Given the description of an element on the screen output the (x, y) to click on. 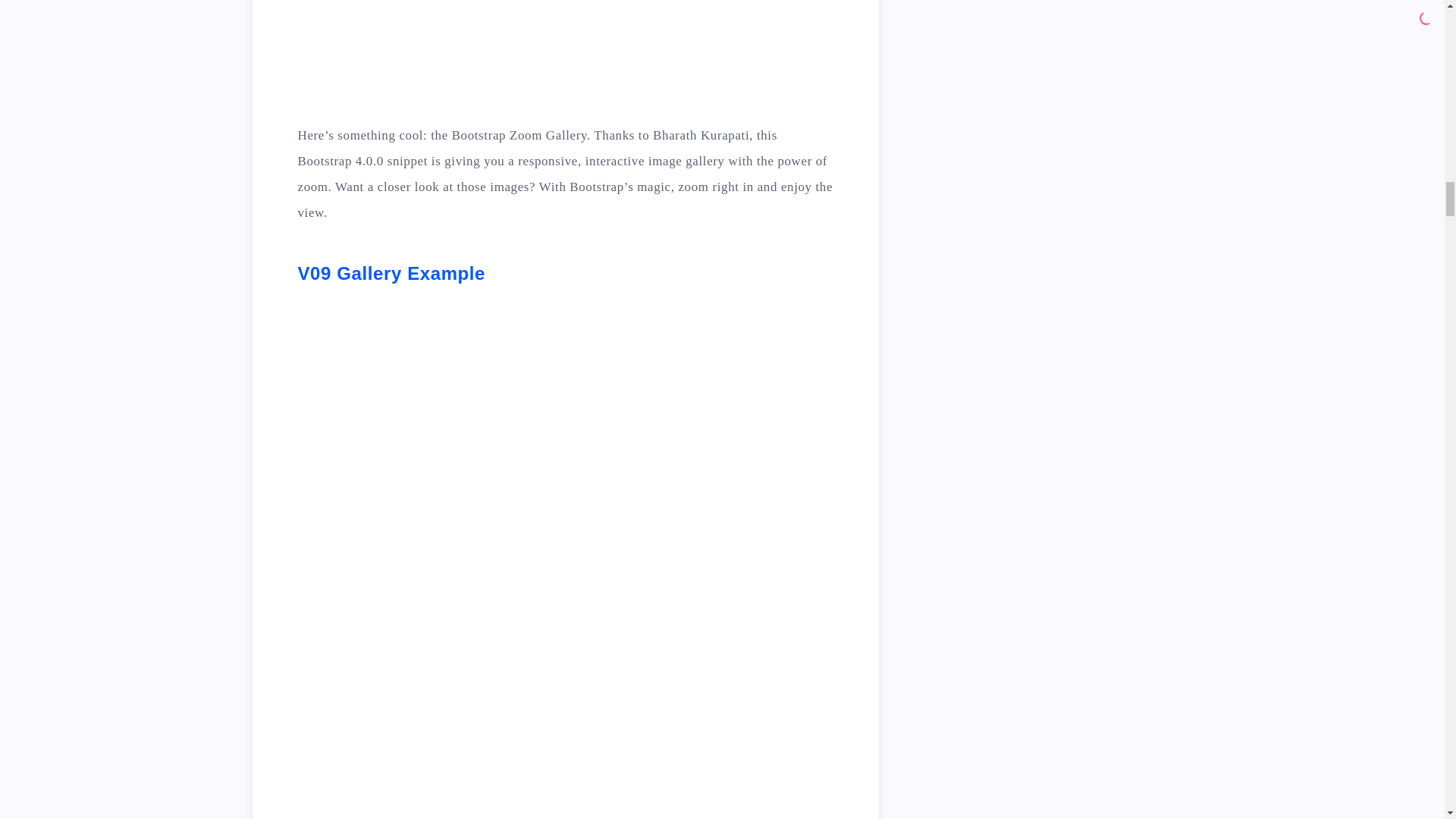
V09 Gallery Example (390, 272)
